Given the description of an element on the screen output the (x, y) to click on. 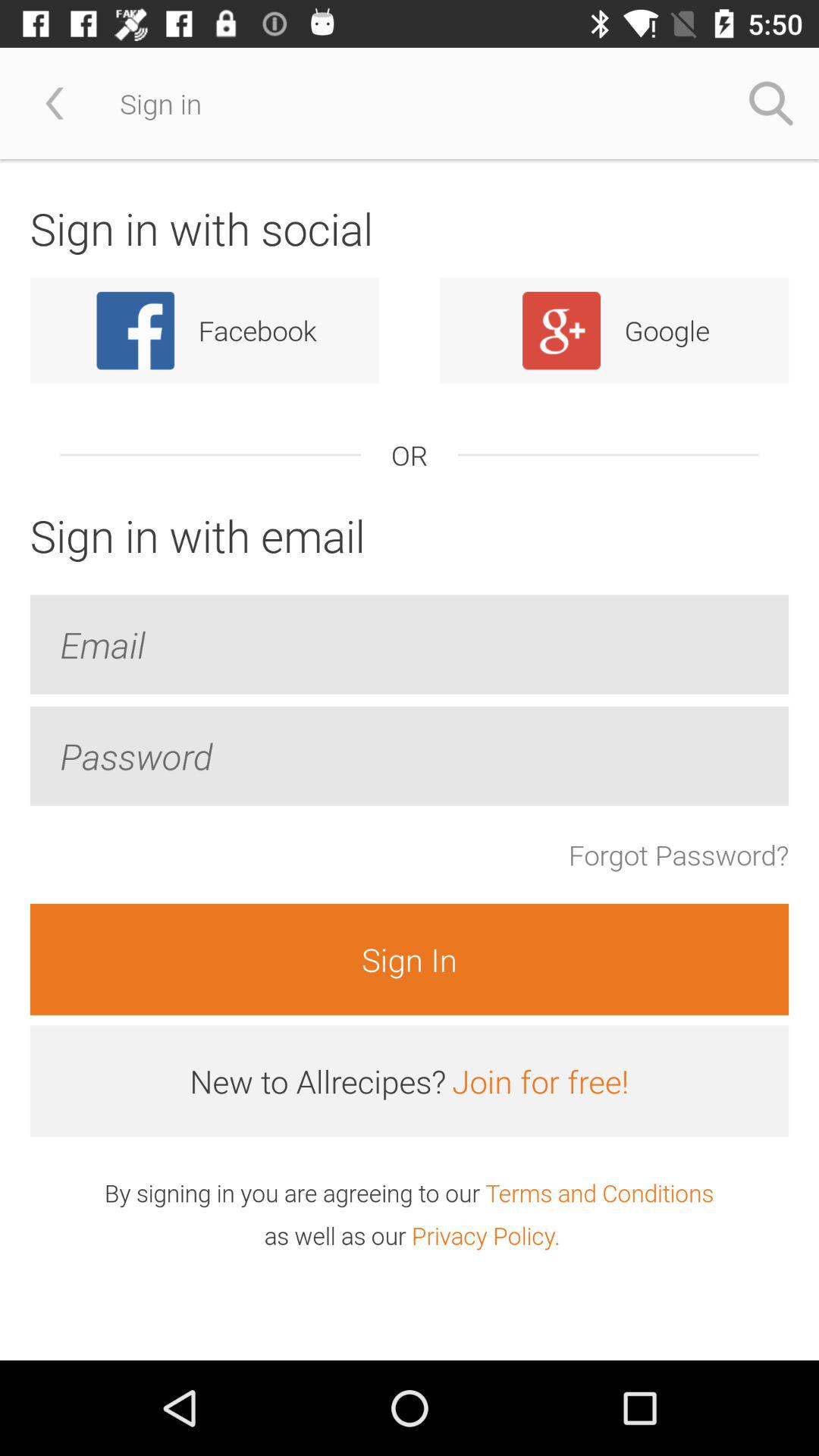
turn off the icon to the right of new to allrecipes? item (540, 1080)
